Given the description of an element on the screen output the (x, y) to click on. 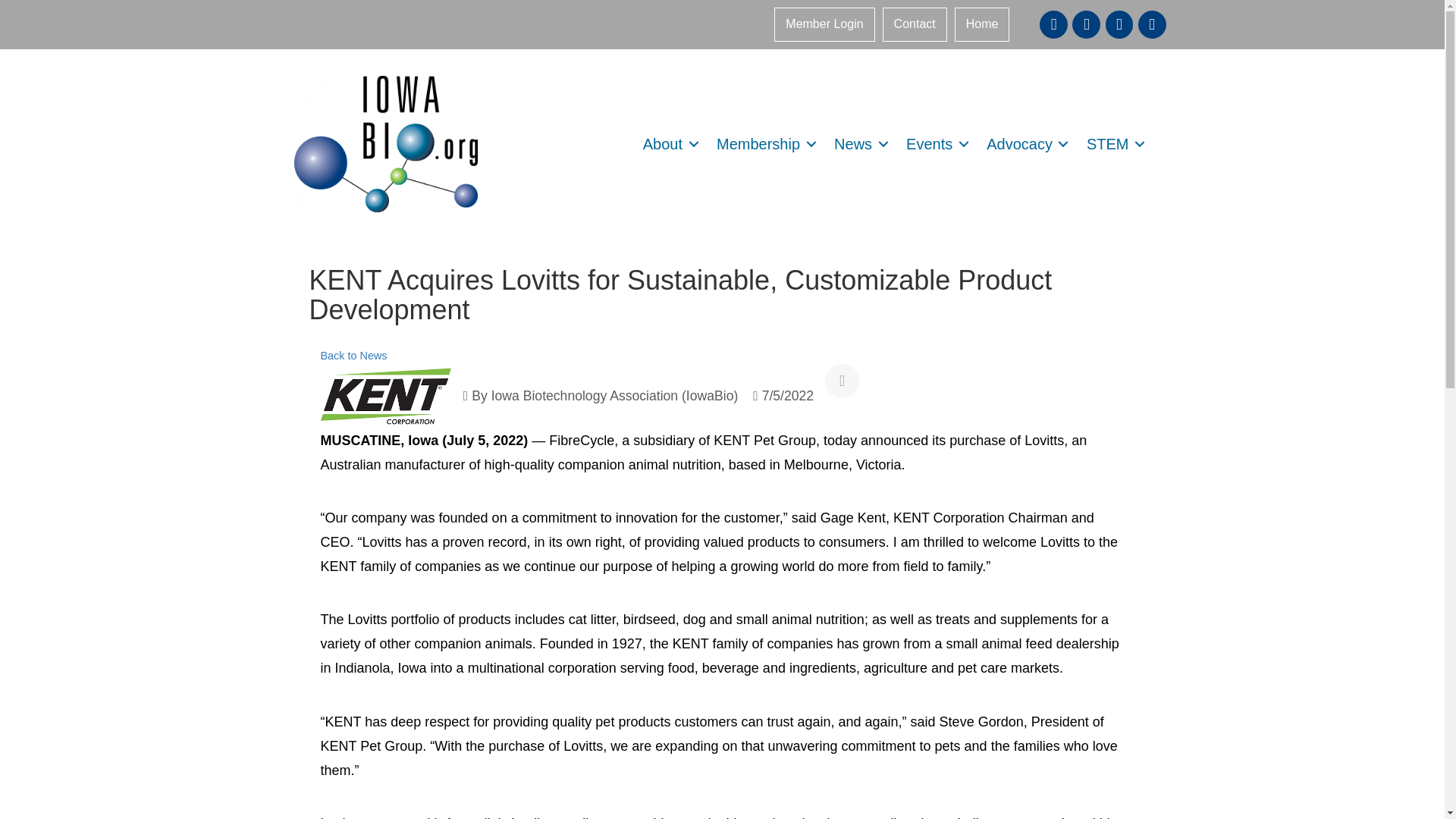
Advocacy (1024, 144)
About (667, 144)
Membership (763, 144)
Home (982, 24)
Iowa Biotech LOGO (385, 144)
News (857, 144)
Events (934, 144)
Member Login (824, 24)
Contact (914, 24)
